Given the description of an element on the screen output the (x, y) to click on. 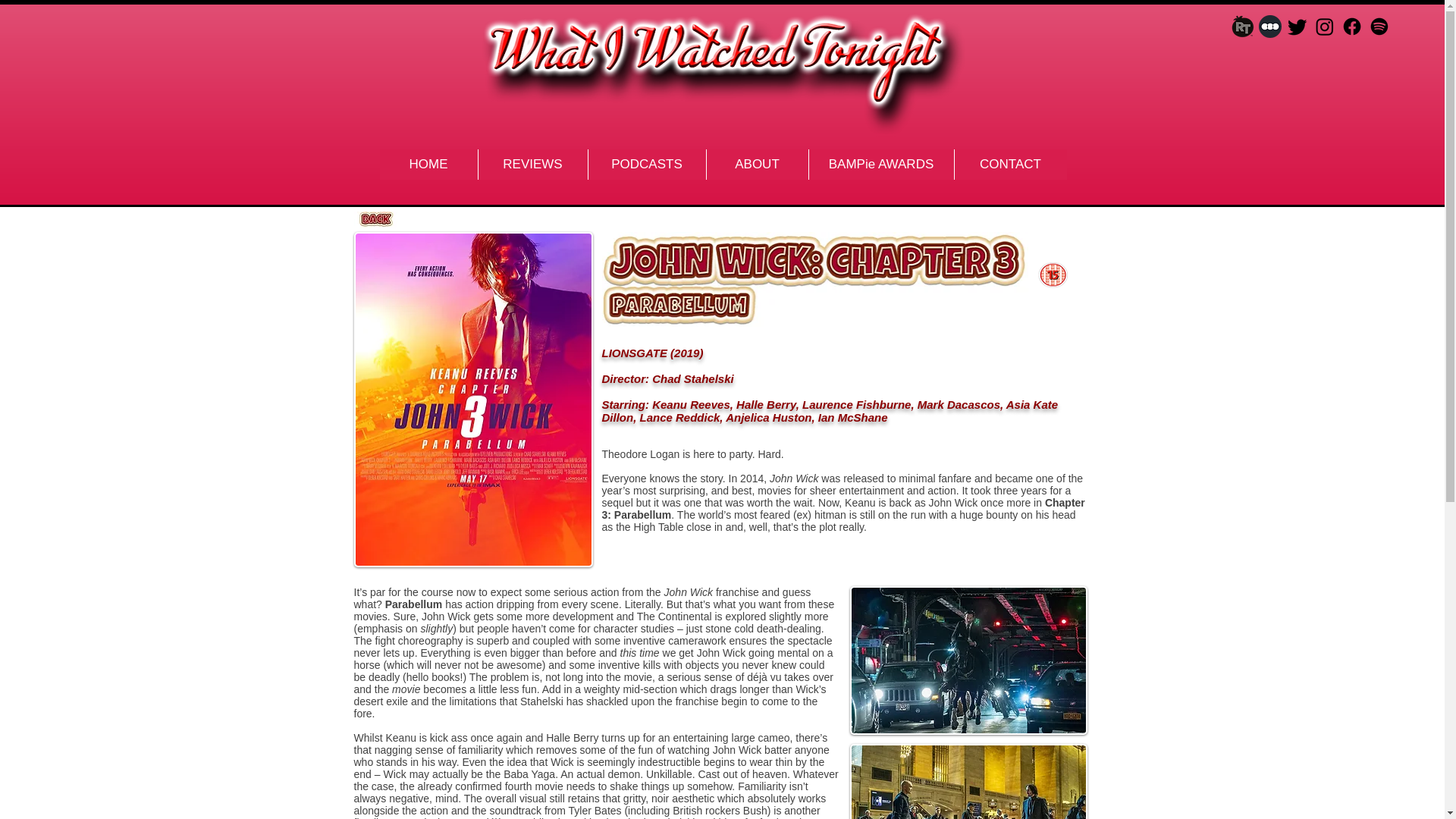
CONTACT (1010, 164)
REVIEWS (532, 164)
HOME (427, 164)
PODCASTS (645, 164)
ABOUT (756, 164)
BAMPie AWARDS (880, 164)
